Given the description of an element on the screen output the (x, y) to click on. 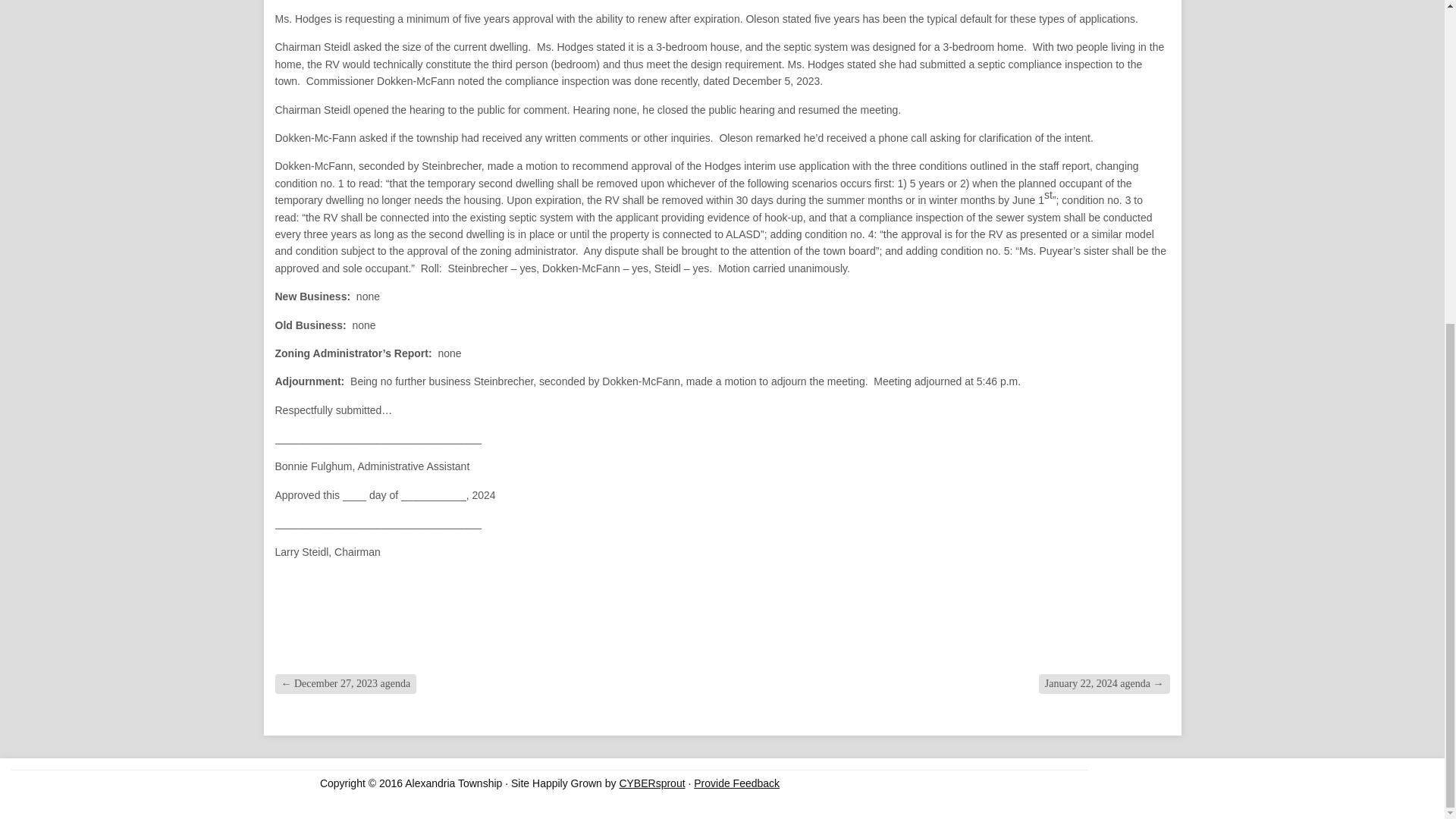
CYBERsprout (651, 783)
Provide Feedback (736, 783)
